Given the description of an element on the screen output the (x, y) to click on. 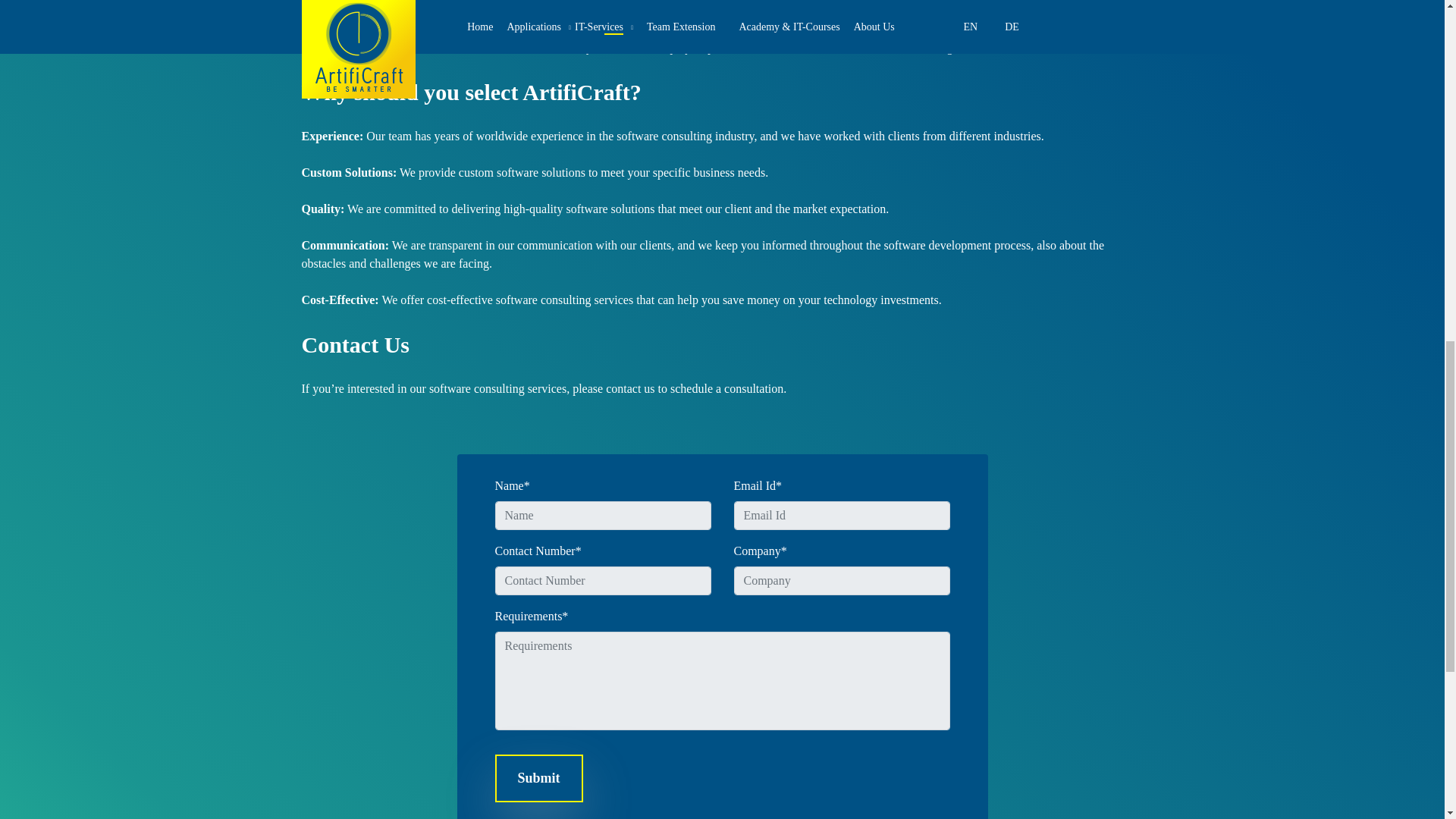
Submit (538, 778)
